Given the description of an element on the screen output the (x, y) to click on. 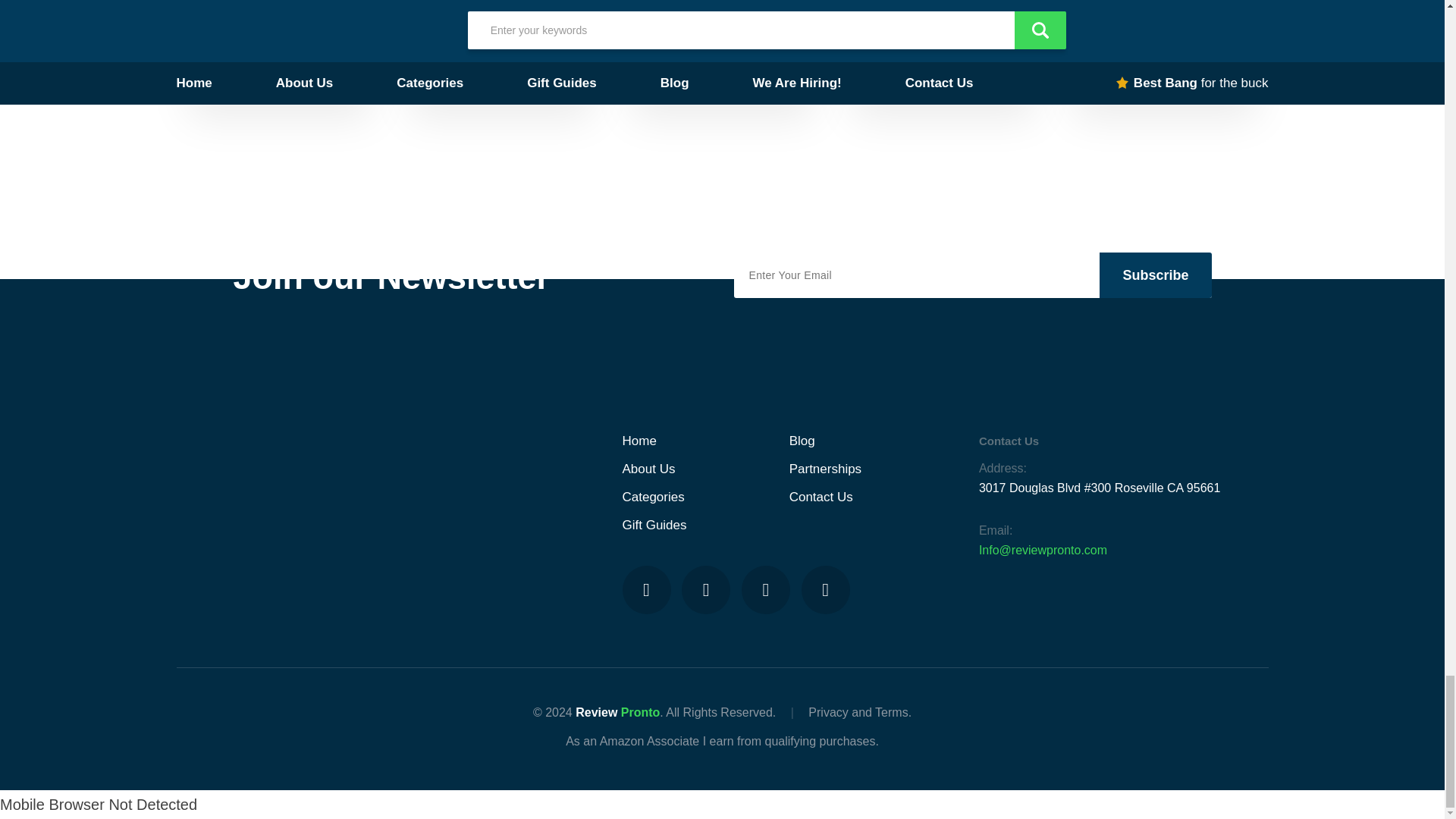
Home (638, 440)
Subscribe (1155, 275)
Blog (802, 440)
Subscribe (1155, 275)
